Given the description of an element on the screen output the (x, y) to click on. 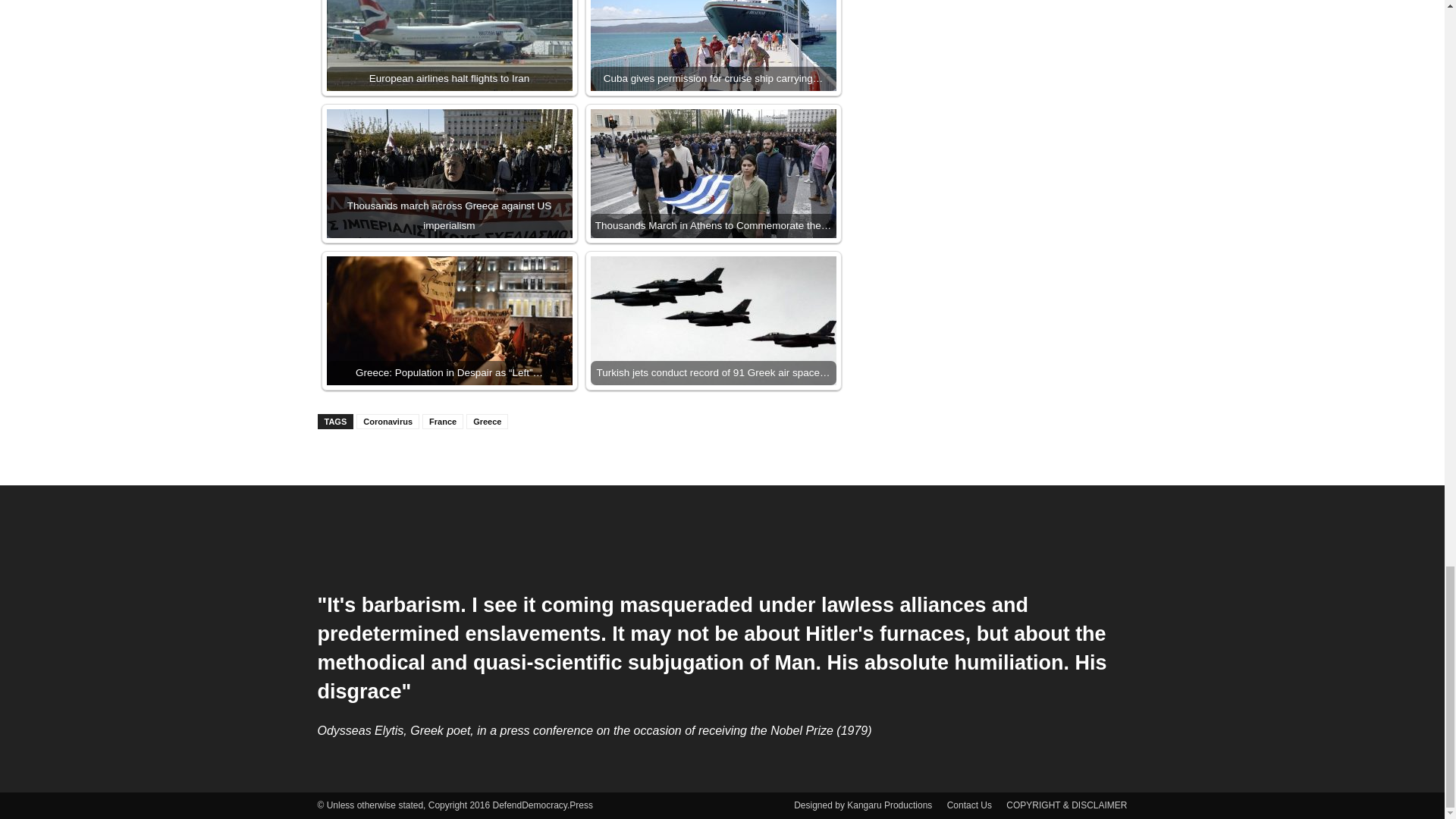
European airlines halt flights to Iran (449, 45)
Thousands march across Greece against US imperialism (449, 173)
